Given the description of an element on the screen output the (x, y) to click on. 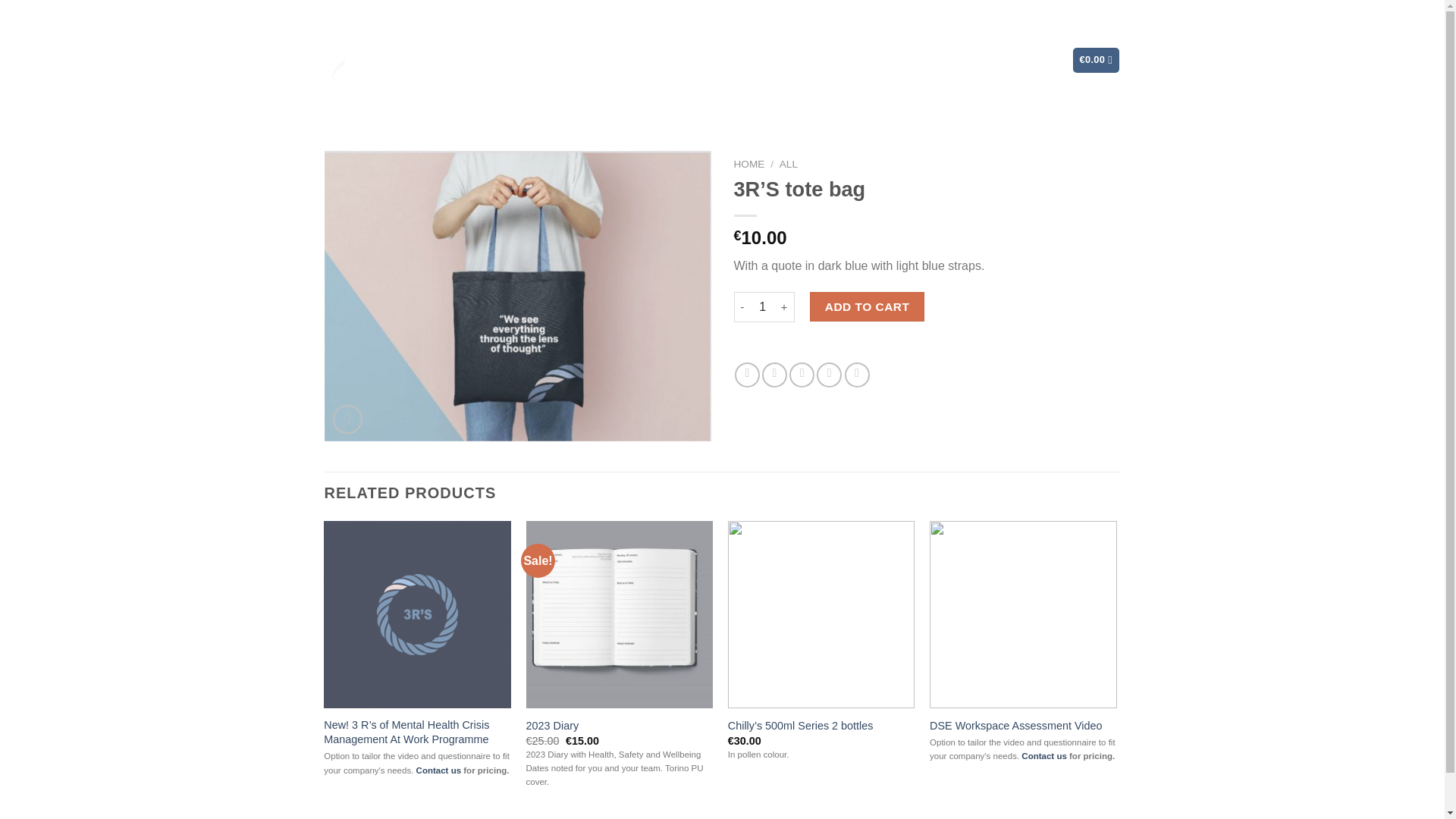
ADD TO CART (866, 306)
CONTACT US (1001, 60)
Share on Facebook (747, 374)
READ (875, 60)
2023 Diary (552, 726)
Contact us (438, 770)
Share on Twitter (774, 374)
DSE Workspace Assessment Video (1016, 726)
Contact us (1044, 756)
Share on LinkedIn (856, 374)
